Given the description of an element on the screen output the (x, y) to click on. 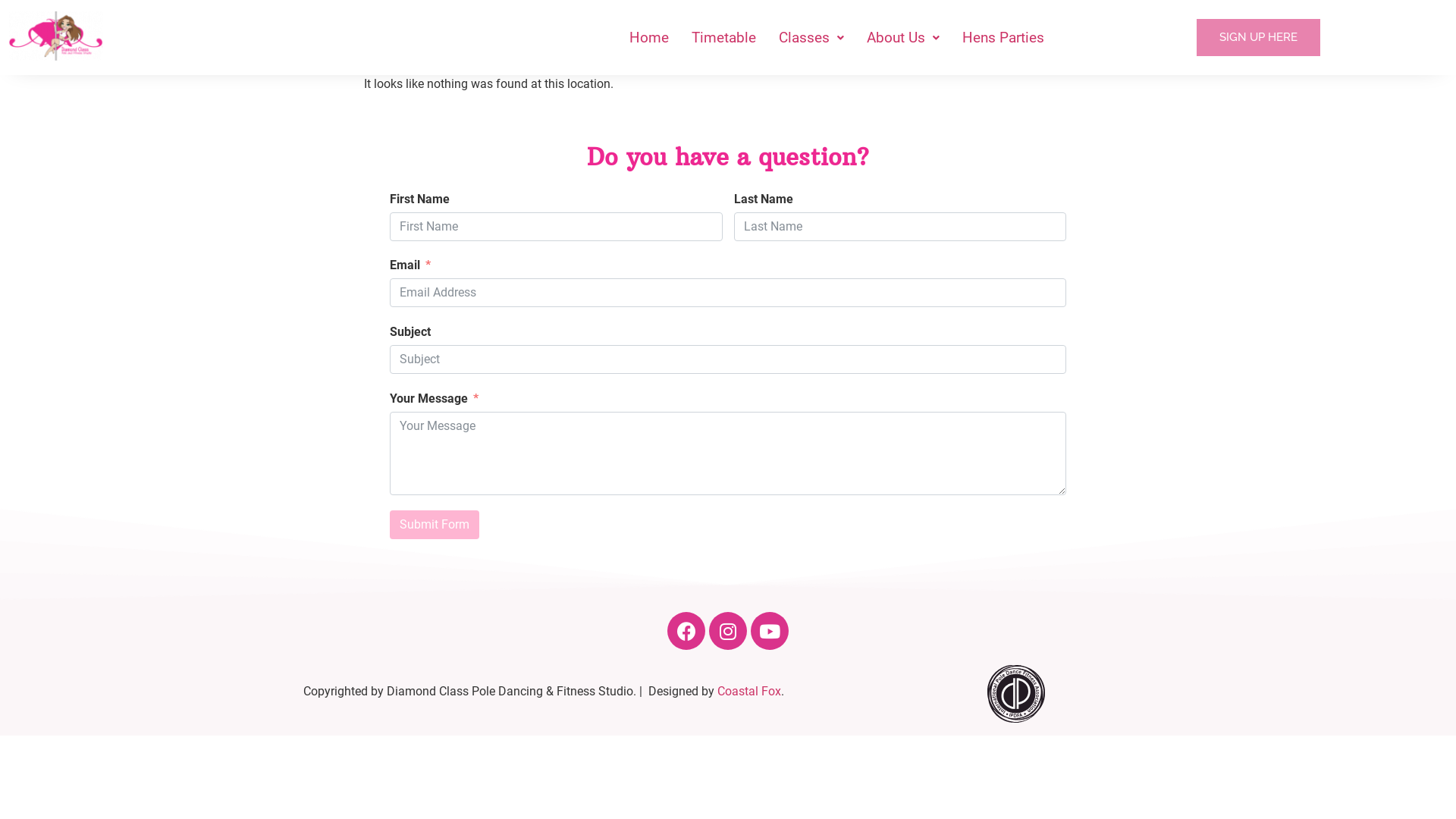
Classes Element type: text (811, 37)
Submit Form Element type: text (434, 524)
Home Element type: text (649, 37)
Hens Parties Element type: text (1002, 37)
Diamond Class Pole and Fitness Studio Hobart Element type: hover (56, 35)
SIGN UP HERE Element type: text (1258, 37)
Coastal Fox Element type: text (749, 691)
Timetable Element type: text (723, 37)
About Us Element type: text (902, 37)
